Given the description of an element on the screen output the (x, y) to click on. 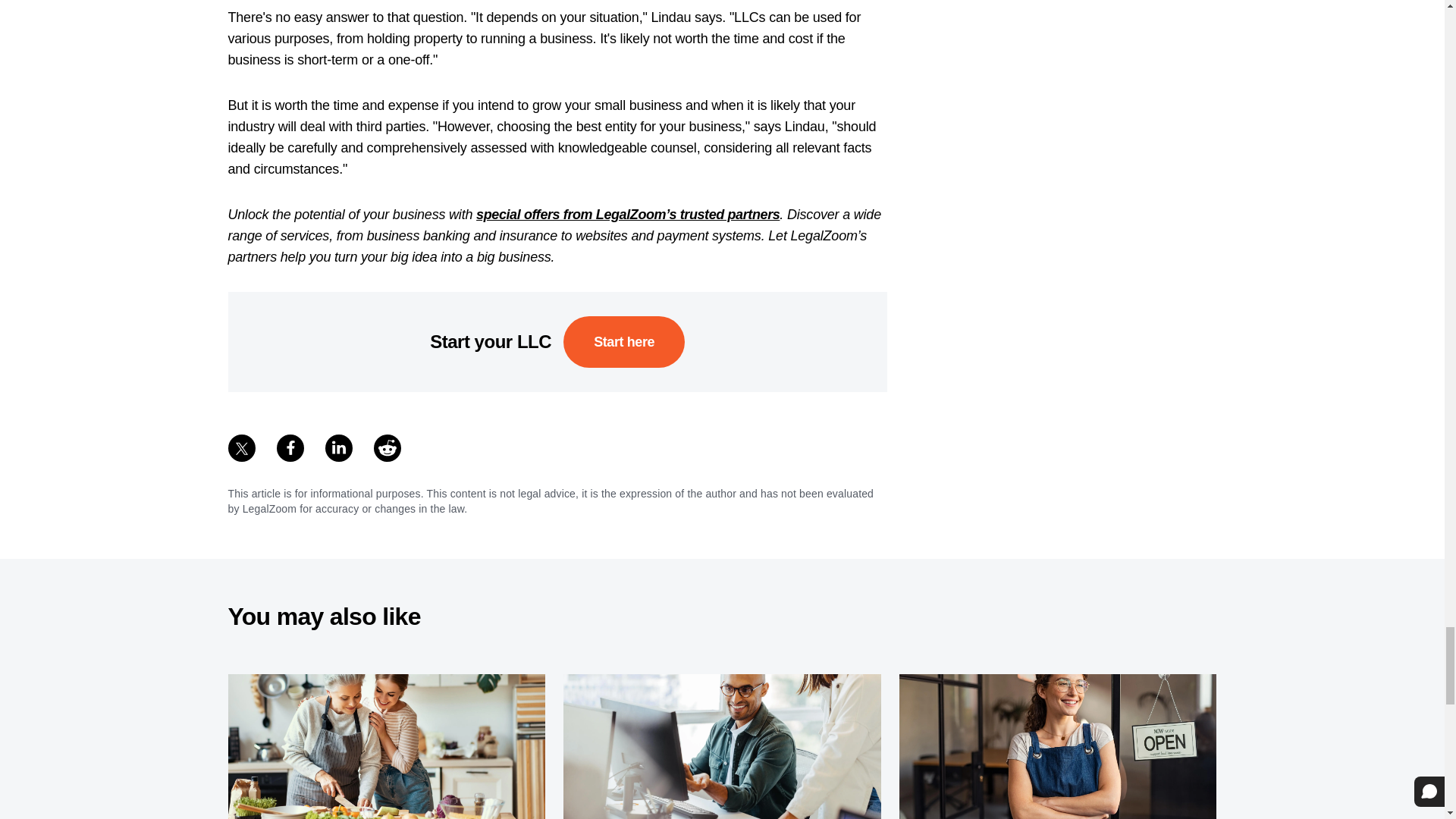
Start here (623, 341)
Share to Reddit (386, 447)
Share to Facebook (289, 447)
Share to Twitter (240, 447)
Share to LinkedIn (338, 447)
